Given the description of an element on the screen output the (x, y) to click on. 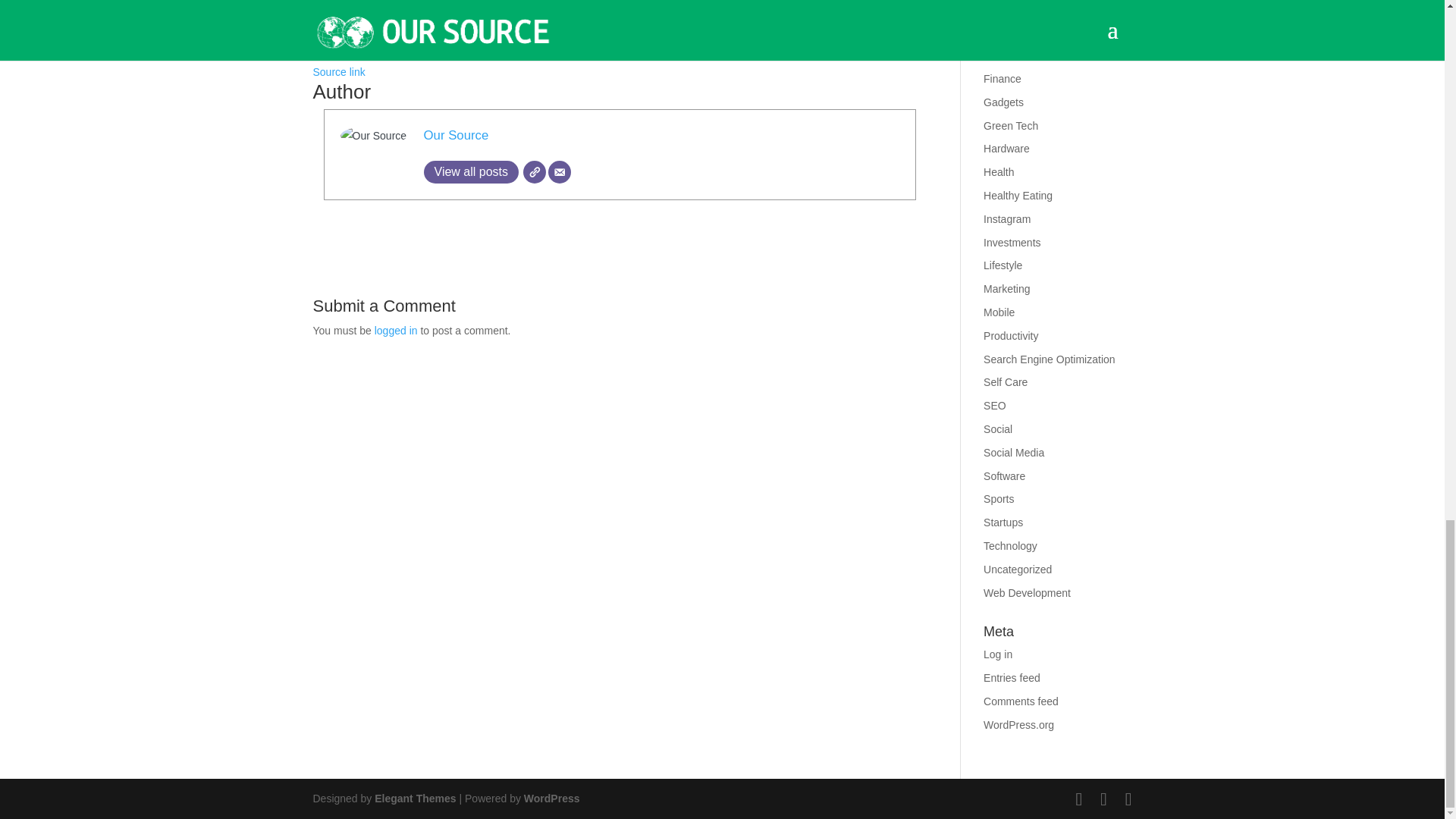
View all posts (470, 171)
Our Source (455, 134)
logged in (395, 330)
View all posts (470, 171)
Source link (339, 71)
Our Source (455, 134)
Premium WordPress Themes (414, 798)
